Given the description of an element on the screen output the (x, y) to click on. 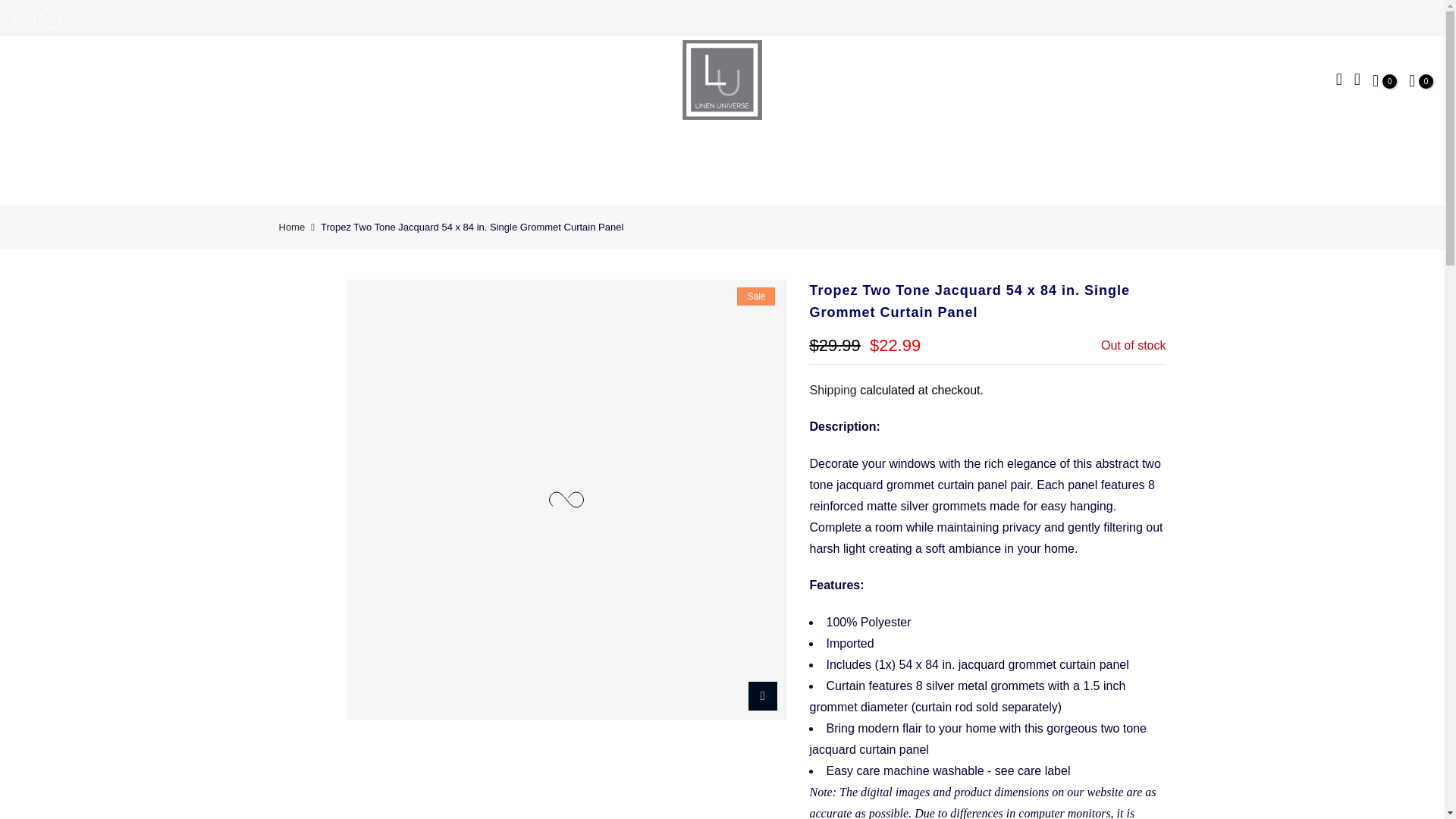
Home (292, 227)
Shipping (832, 390)
0 (1420, 80)
0 (1385, 80)
